Given the description of an element on the screen output the (x, y) to click on. 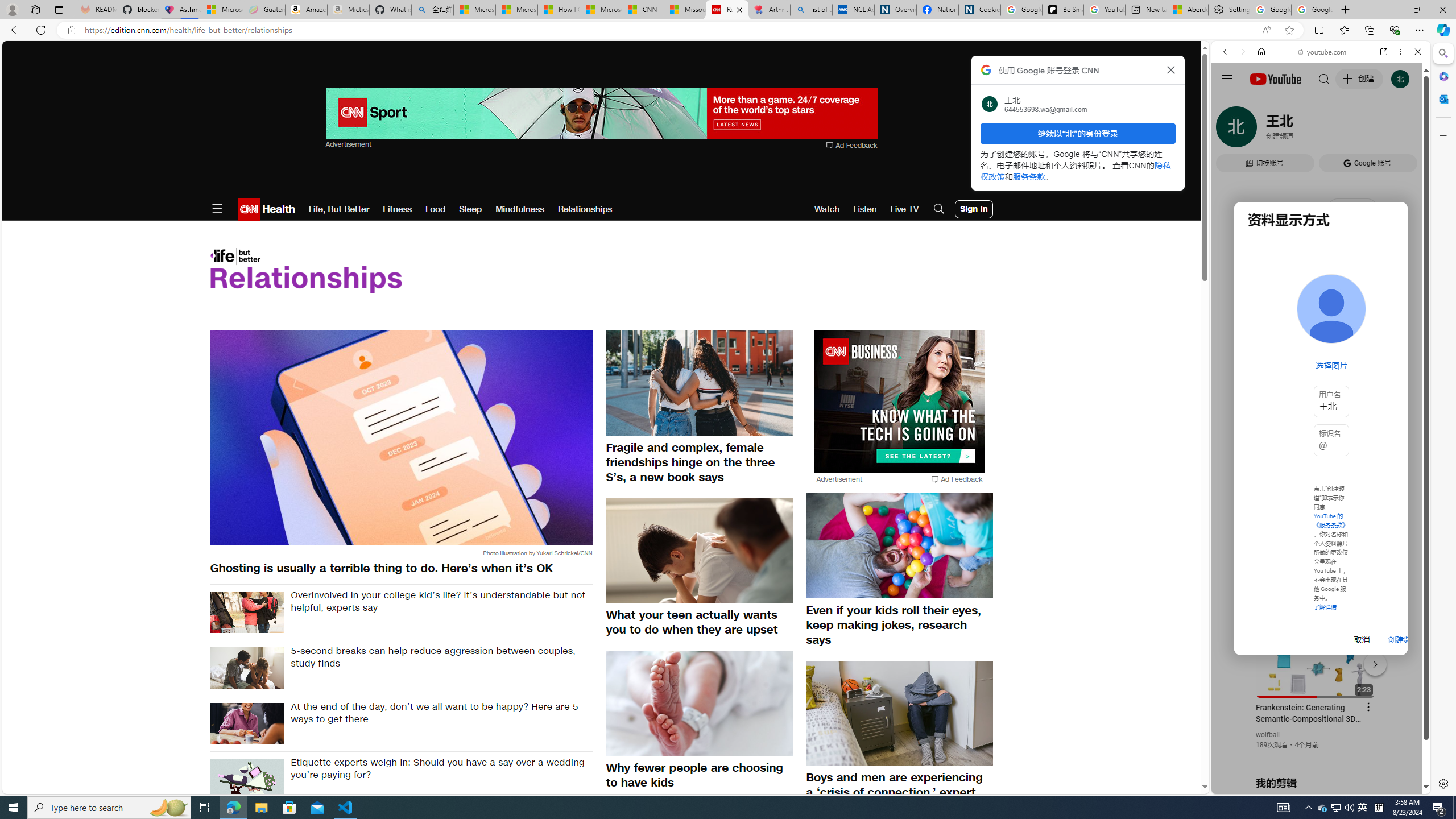
Be Smart | creating Science videos | Patreon (1062, 9)
Listen (864, 208)
Class: b_serphb (1404, 130)
User Account Log In Button (973, 208)
